Given the description of an element on the screen output the (x, y) to click on. 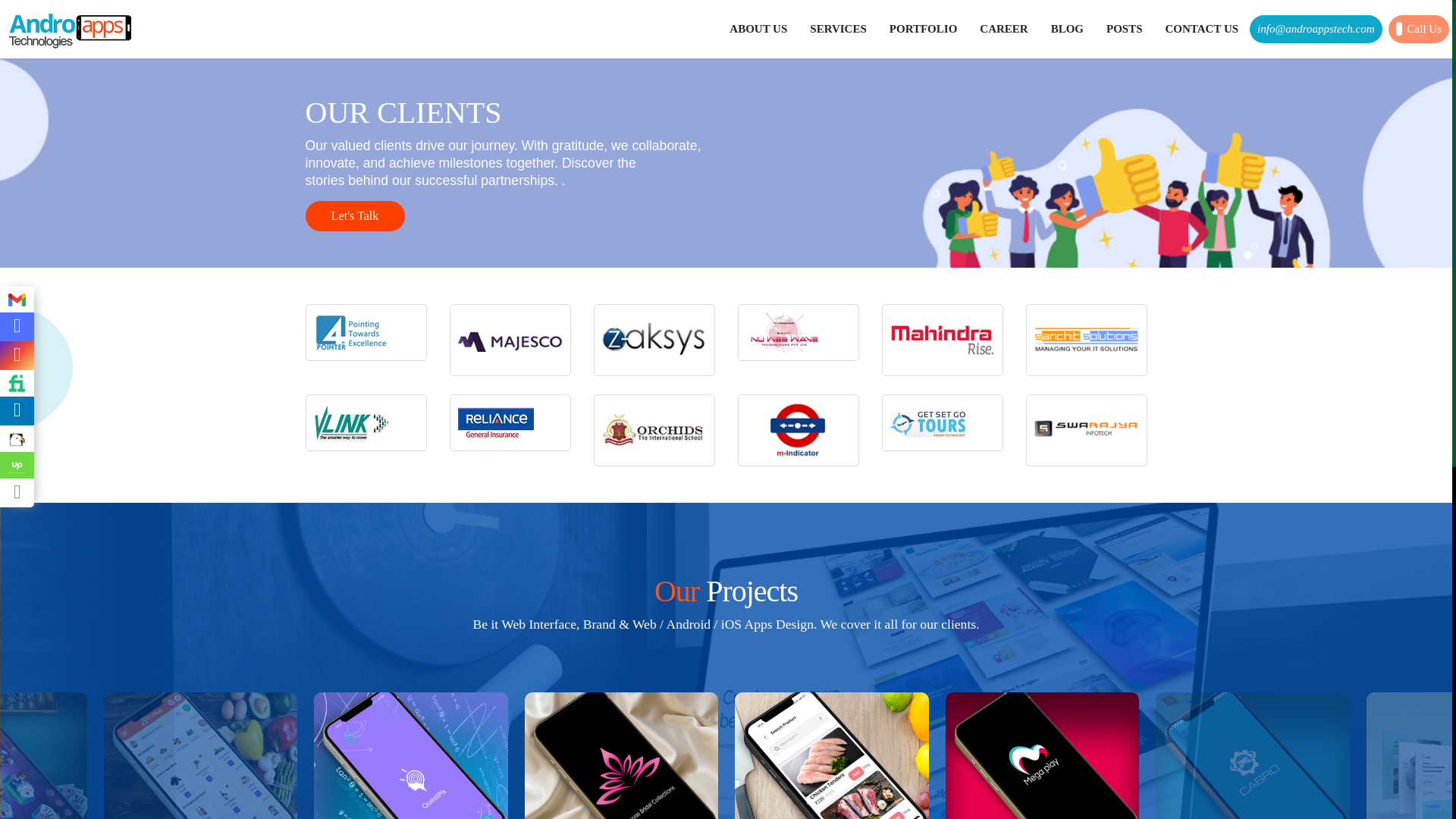
ABOUT US (757, 29)
SERVICES (837, 29)
